Given the description of an element on the screen output the (x, y) to click on. 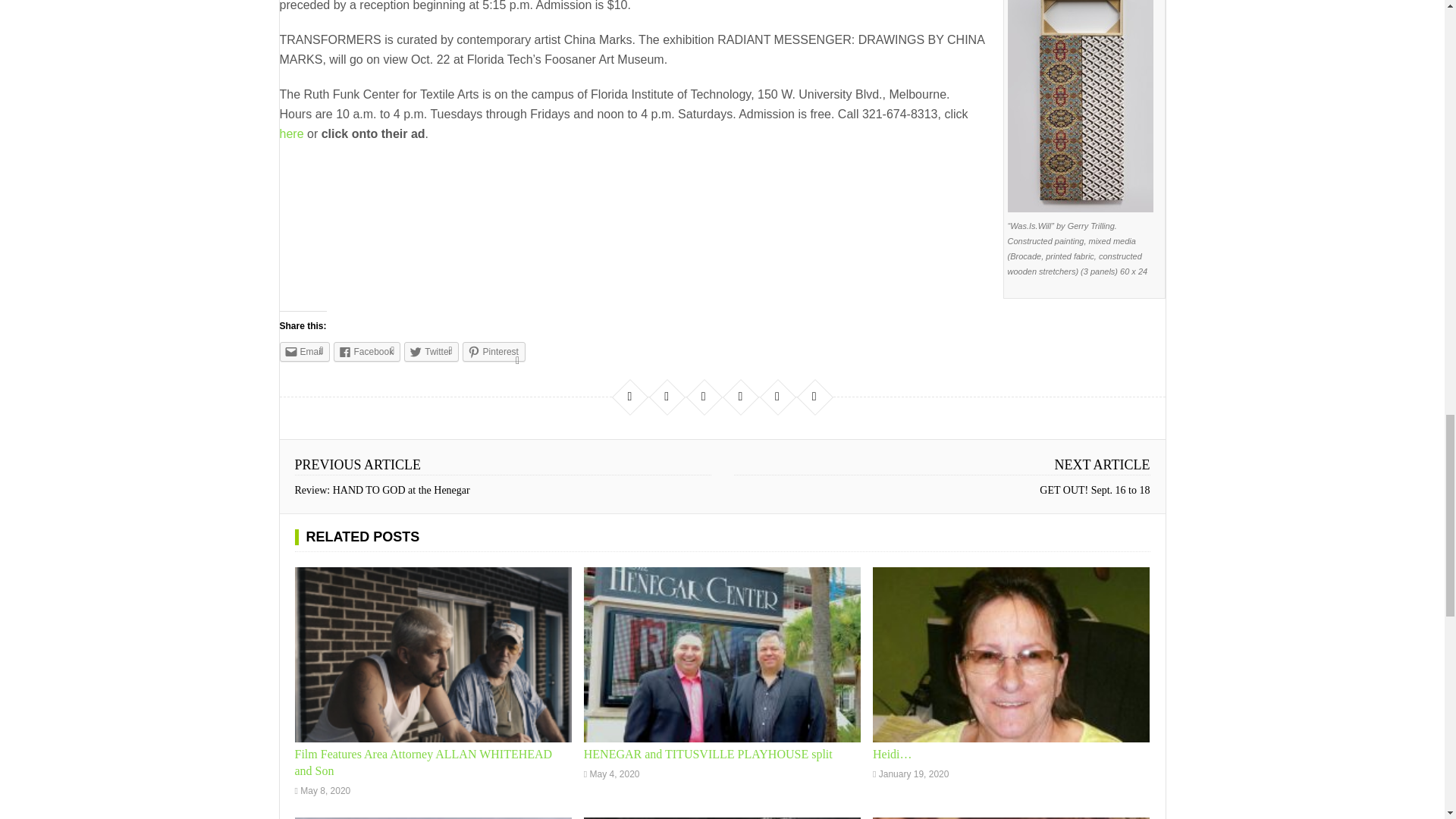
Pinterest (494, 351)
Facebook (367, 351)
Review: HAND TO GOD at the Henegar (381, 490)
HENEGAR and TITUSVILLE PLAYHOUSE split (707, 753)
Film Features Area Attorney ALLAN WHITEHEAD and Son (432, 654)
Twitter (431, 351)
here (290, 133)
Click to share on Twitter (431, 351)
Click to email this to a friend (304, 351)
HENEGAR and TITUSVILLE PLAYHOUSE split (707, 753)
Email (304, 351)
Click to share on Facebook (367, 351)
GET OUT! Sept. 16 to 18 (1094, 490)
